Given the description of an element on the screen output the (x, y) to click on. 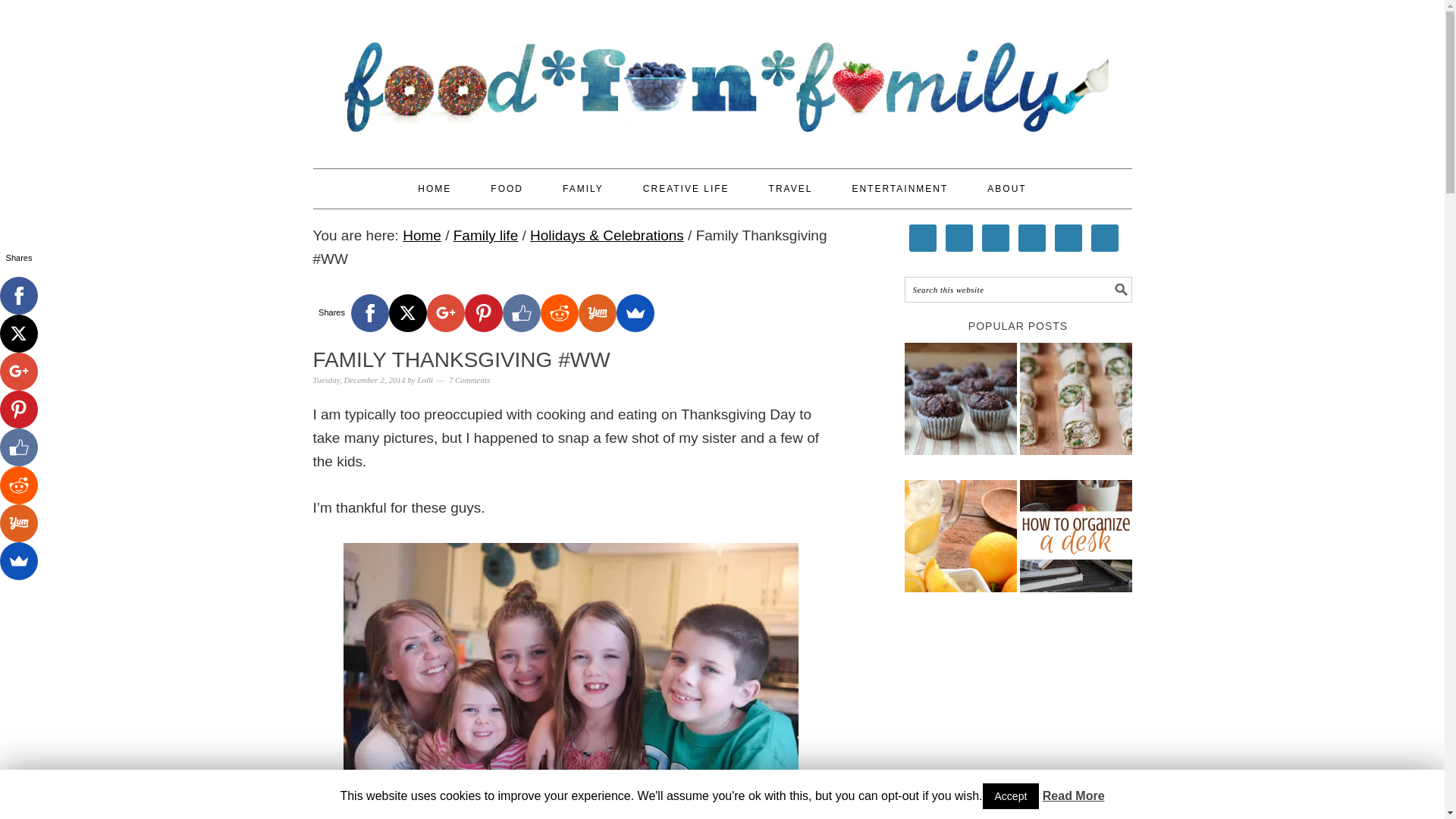
FOOD FUN FAMILY (722, 77)
ABOUT (1006, 188)
CREATIVE LIFE (686, 188)
Family life (485, 235)
ENTERTAINMENT (899, 188)
FAMILY (583, 188)
Facebook Like (521, 313)
Facebook (369, 313)
X (407, 313)
HOME (434, 188)
Yummly (596, 313)
Reddit (559, 313)
TRAVEL (790, 188)
